Given the description of an element on the screen output the (x, y) to click on. 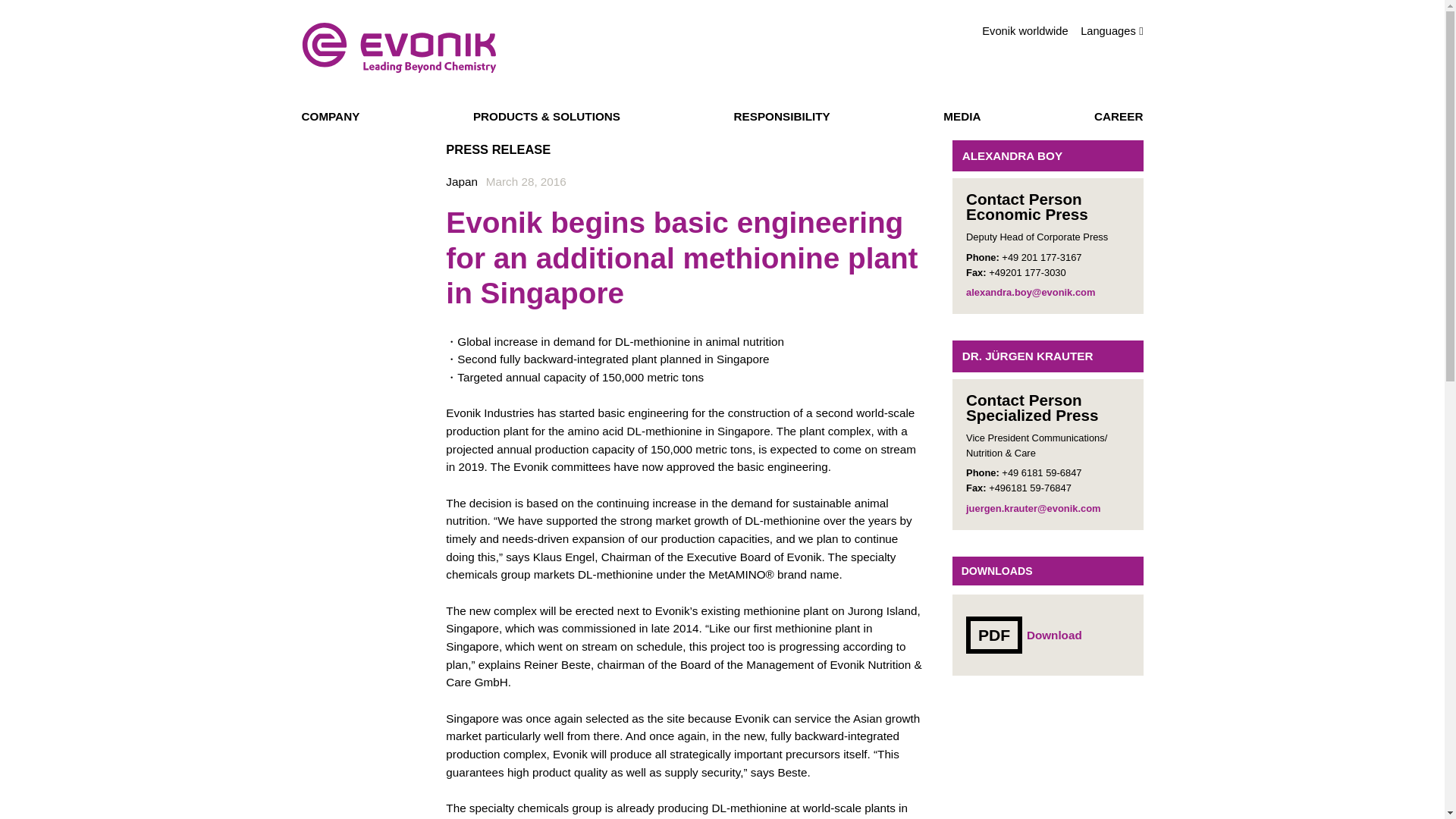
Media (961, 118)
COMPANY (330, 118)
Company (330, 118)
Career (1118, 118)
CAREER (1118, 118)
Evonik worldwide (1024, 31)
Evonik Industries AG (398, 47)
RESPONSIBILITY (781, 118)
Evonik worldwide (1024, 31)
Languages (1111, 30)
